Given the description of an element on the screen output the (x, y) to click on. 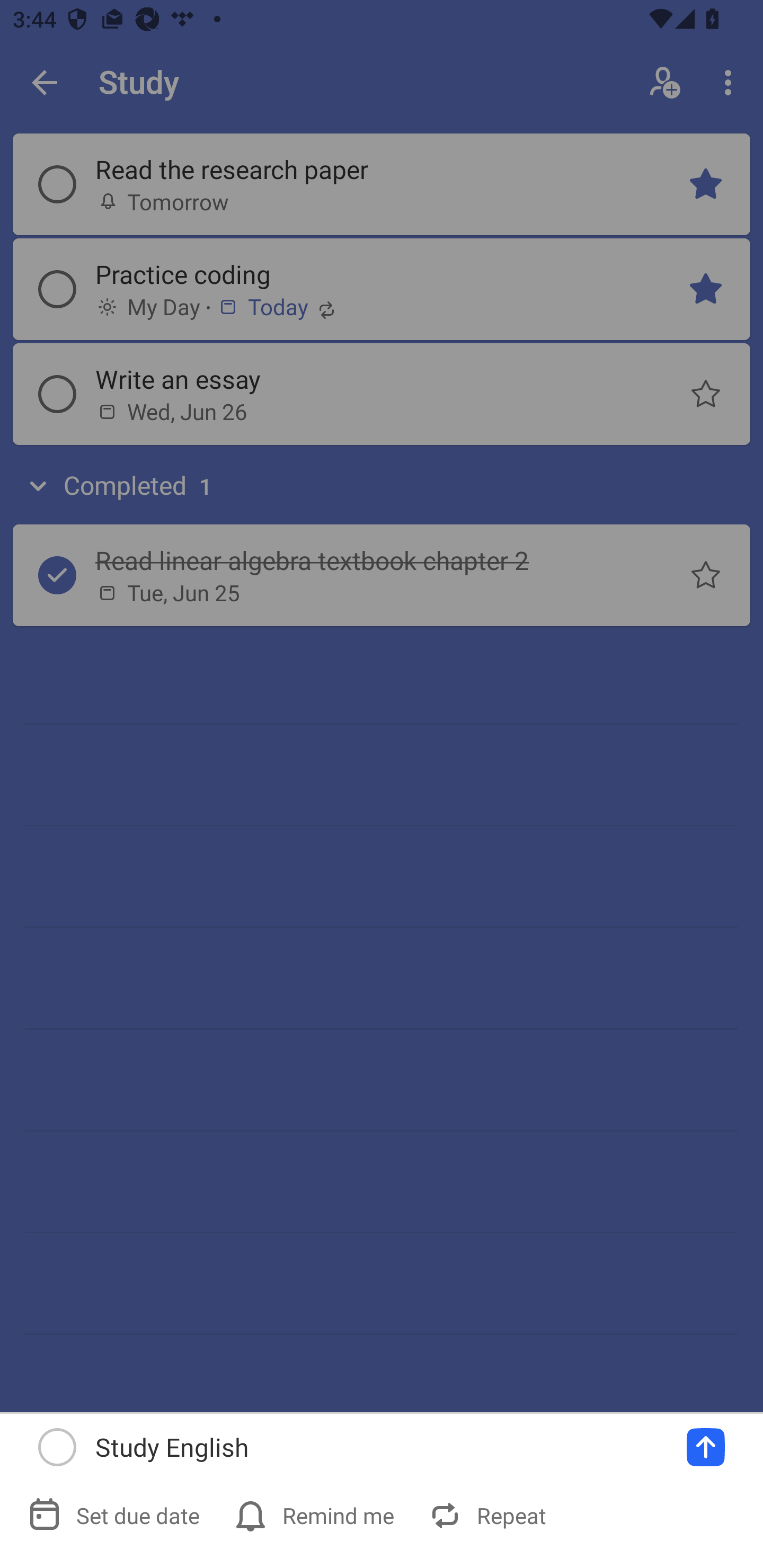
Repeat (489, 1515)
